Given the description of an element on the screen output the (x, y) to click on. 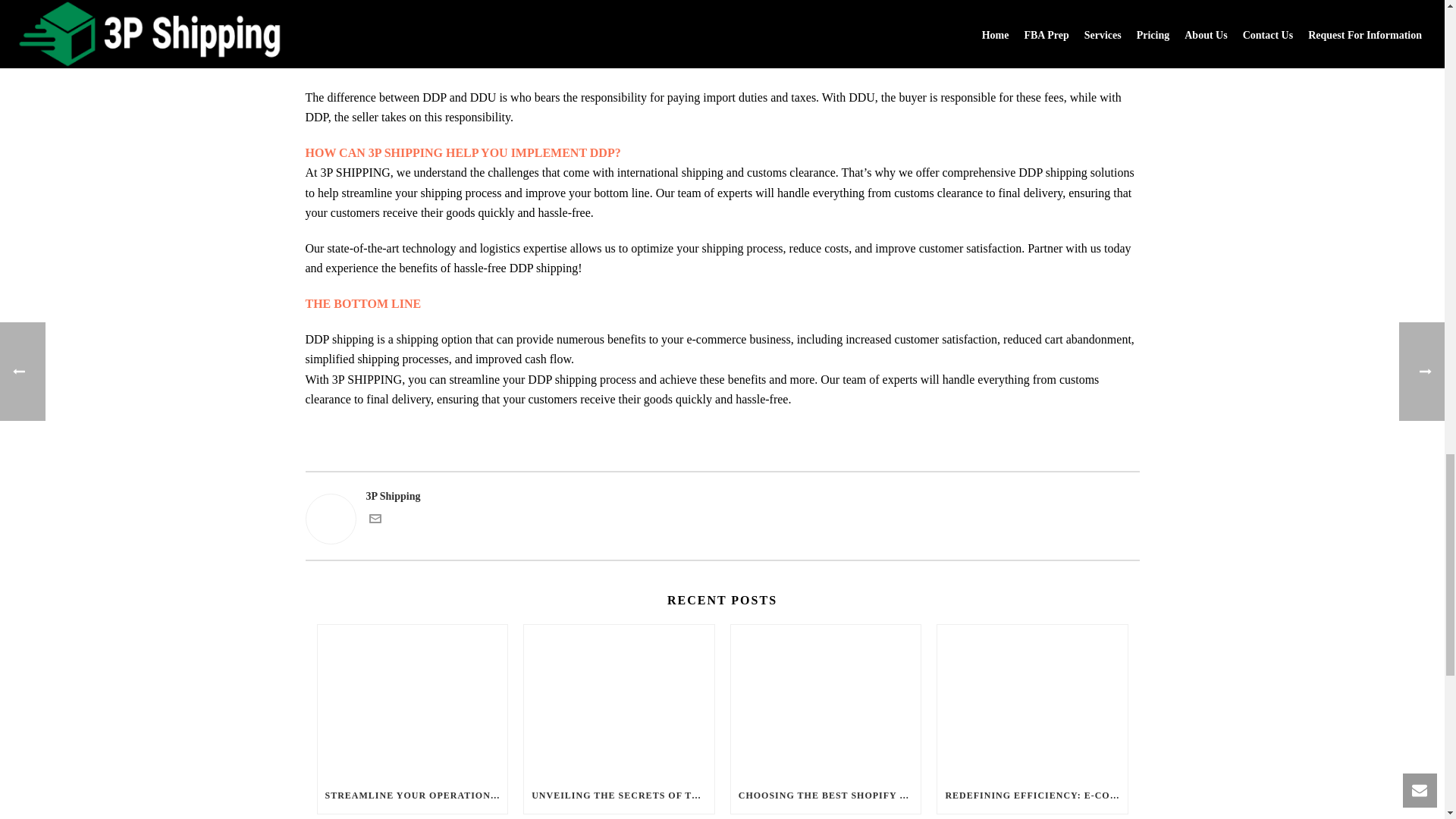
Get in touch with me via email (374, 521)
Unveiling The Secrets of Top Pick Pack and Ship Companies (619, 700)
Choosing the Best Shopify Fulfillment Provider in New York (825, 700)
